Given the description of an element on the screen output the (x, y) to click on. 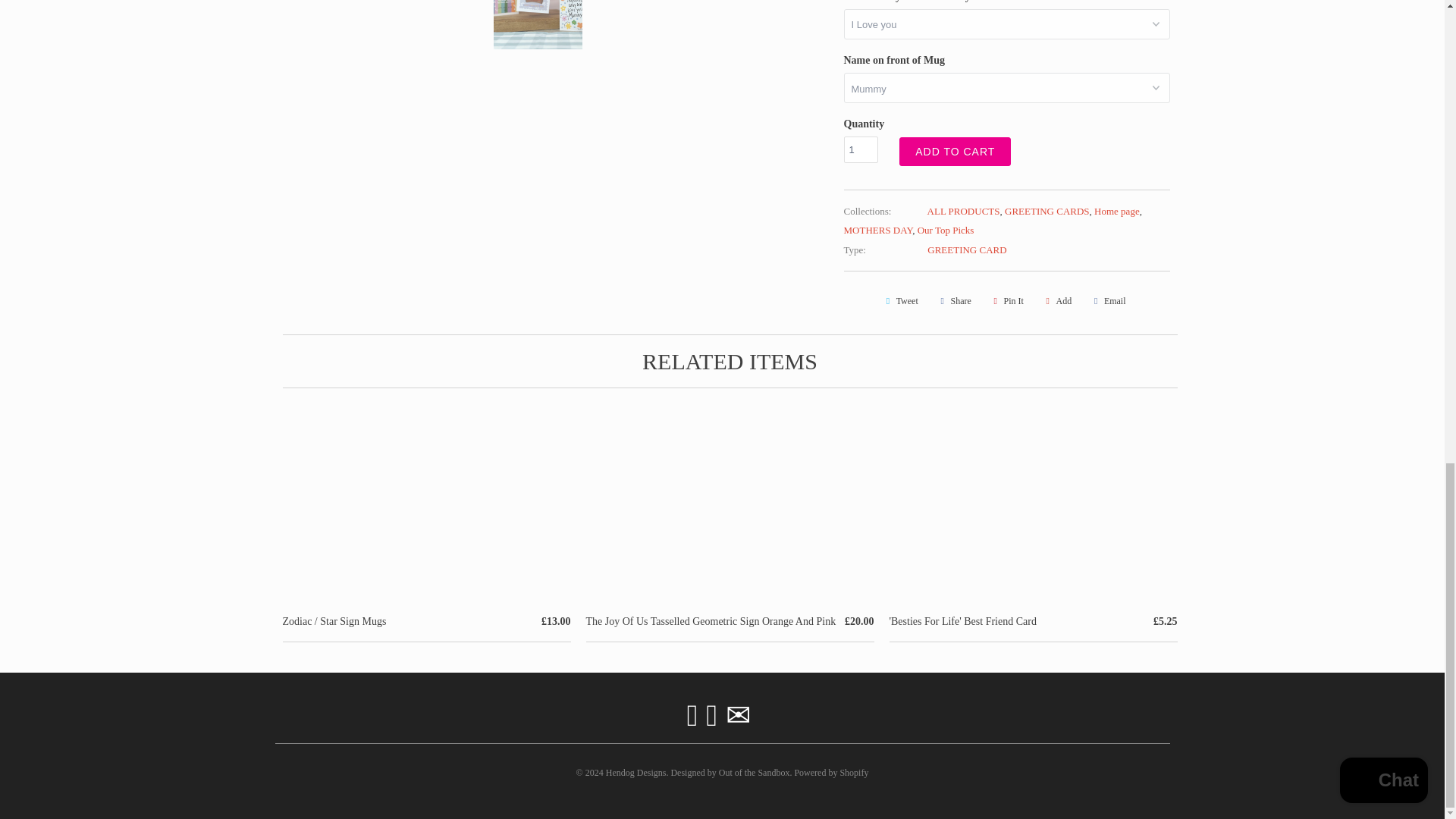
GREETING CARD (966, 249)
1 (860, 149)
Browse ALL PRODUCTS (963, 211)
Browse Home page (1117, 211)
Share this on Facebook (953, 300)
Browse GREETING CARDS (1046, 211)
Browse MOTHERS DAY (877, 229)
Browse Our Top Picks (945, 229)
Share this on Pinterest (1005, 300)
Share this on Twitter (898, 300)
